Given the description of an element on the screen output the (x, y) to click on. 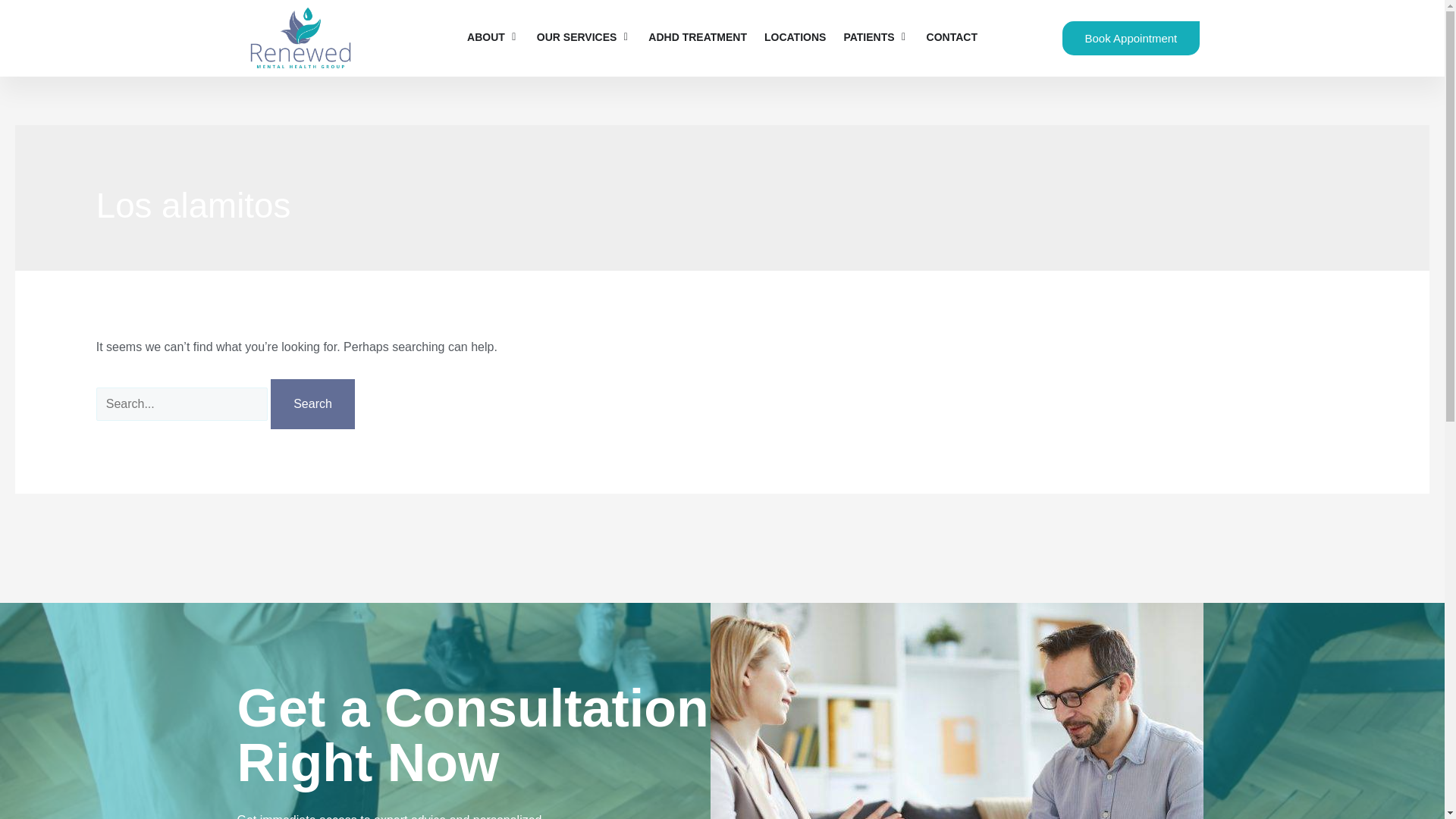
OUR SERVICES (577, 36)
ABOUT (486, 36)
Search (312, 404)
Search (312, 404)
visiting-counselor.jpg (957, 710)
